Given the description of an element on the screen output the (x, y) to click on. 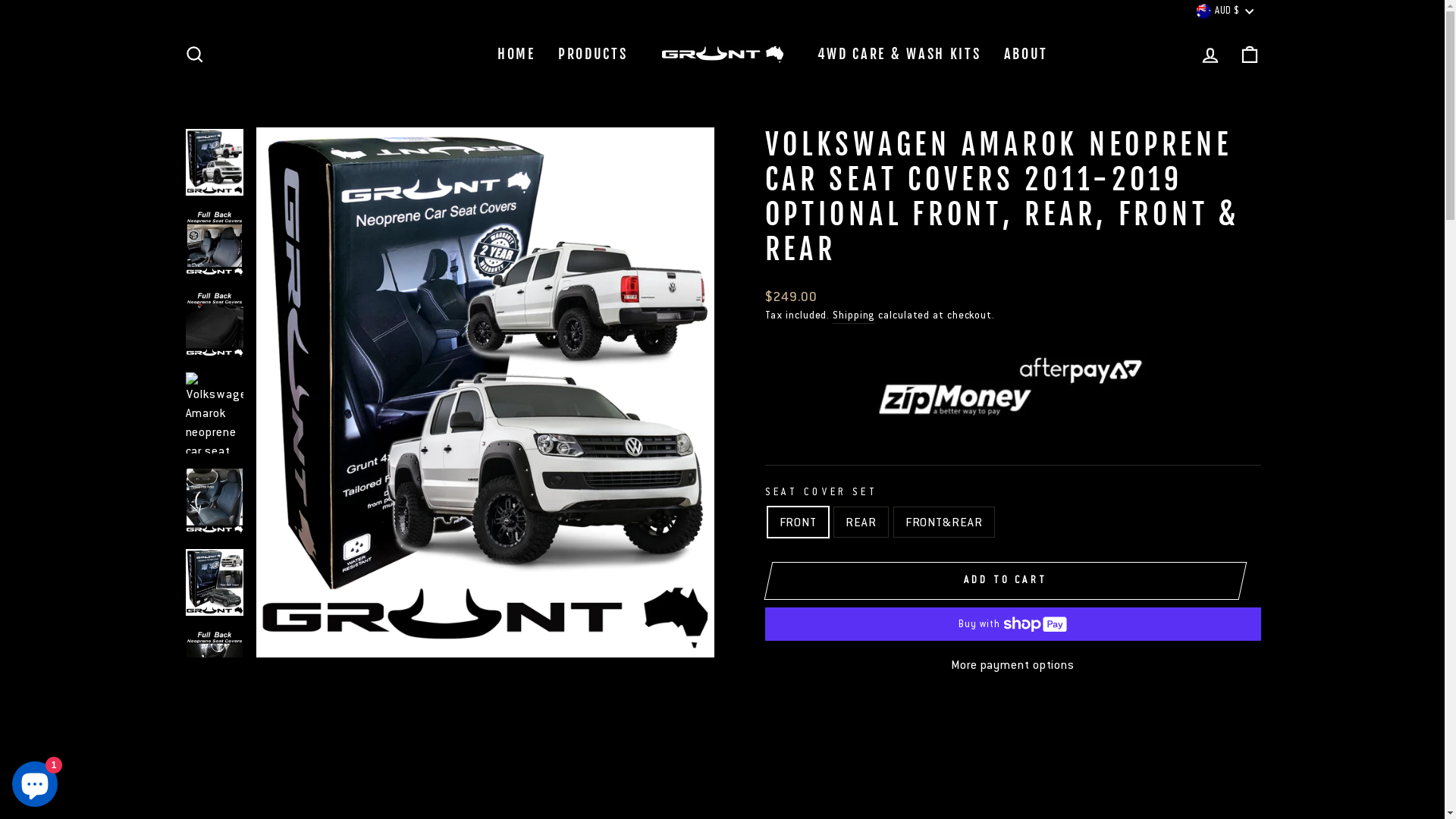
Shopify online store chat Element type: hover (34, 780)
Skip to content Element type: text (0, 0)
AUD $ Element type: text (1224, 11)
4WD CARE & WASH KITS Element type: text (898, 54)
HOME Element type: text (516, 54)
LOG IN Element type: text (1210, 53)
CART Element type: text (1249, 53)
ADD TO CART Element type: text (1004, 580)
Shipping Element type: text (853, 315)
ABOUT Element type: text (1026, 54)
More payment options Element type: text (1012, 663)
SEARCH Element type: text (193, 53)
PRODUCTS Element type: text (592, 54)
